Given the description of an element on the screen output the (x, y) to click on. 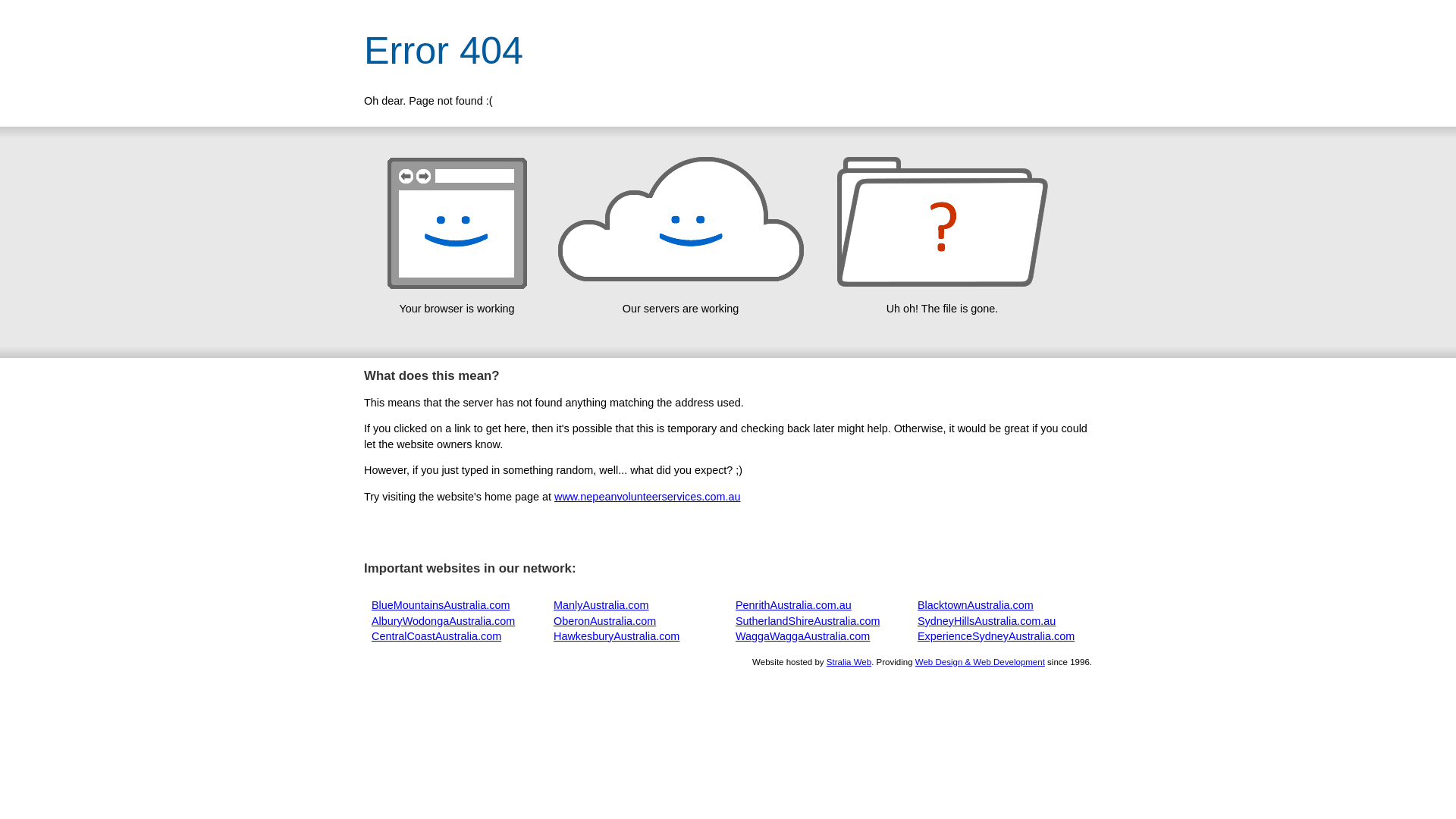
Stralia Web Element type: text (848, 661)
PenrithAustralia.com.au Element type: text (793, 605)
www.nepeanvolunteerservices.com.au Element type: text (647, 496)
WaggaWaggaAustralia.com Element type: text (802, 636)
SydneyHillsAustralia.com.au Element type: text (986, 621)
HawkesburyAustralia.com Element type: text (616, 636)
ExperienceSydneyAustralia.com Element type: text (995, 636)
SutherlandShireAustralia.com Element type: text (807, 621)
CentralCoastAustralia.com Element type: text (436, 636)
ManlyAustralia.com Element type: text (601, 605)
BlacktownAustralia.com Element type: text (975, 605)
OberonAustralia.com Element type: text (604, 621)
BlueMountainsAustralia.com Element type: text (440, 605)
AlburyWodongaAustralia.com Element type: text (442, 621)
Web Design & Web Development Element type: text (979, 661)
